Given the description of an element on the screen output the (x, y) to click on. 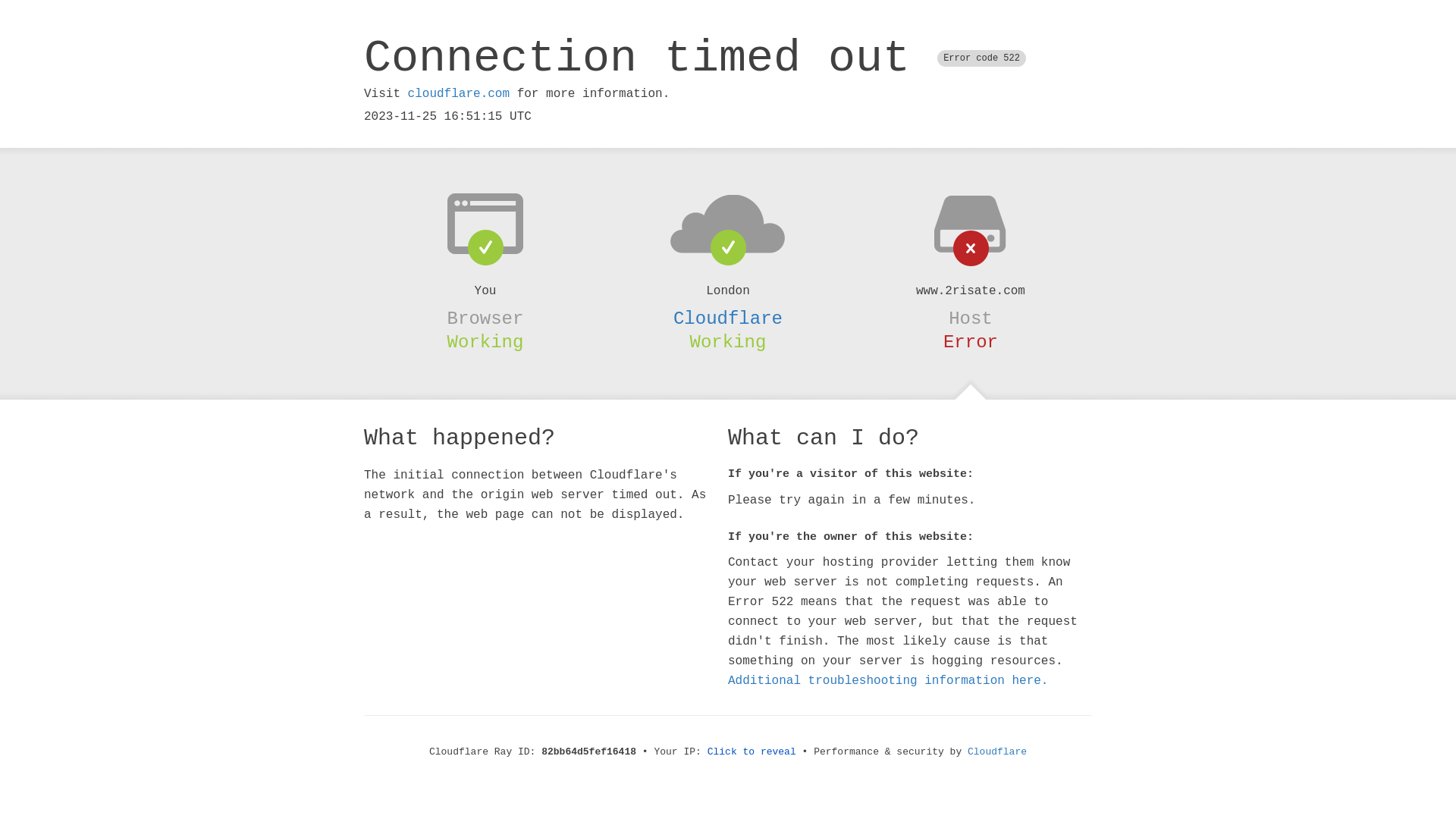
Click to reveal Element type: text (751, 751)
cloudflare.com Element type: text (458, 93)
Cloudflare Element type: text (727, 318)
Cloudflare Element type: text (996, 751)
Additional troubleshooting information here. Element type: text (888, 680)
